Given the description of an element on the screen output the (x, y) to click on. 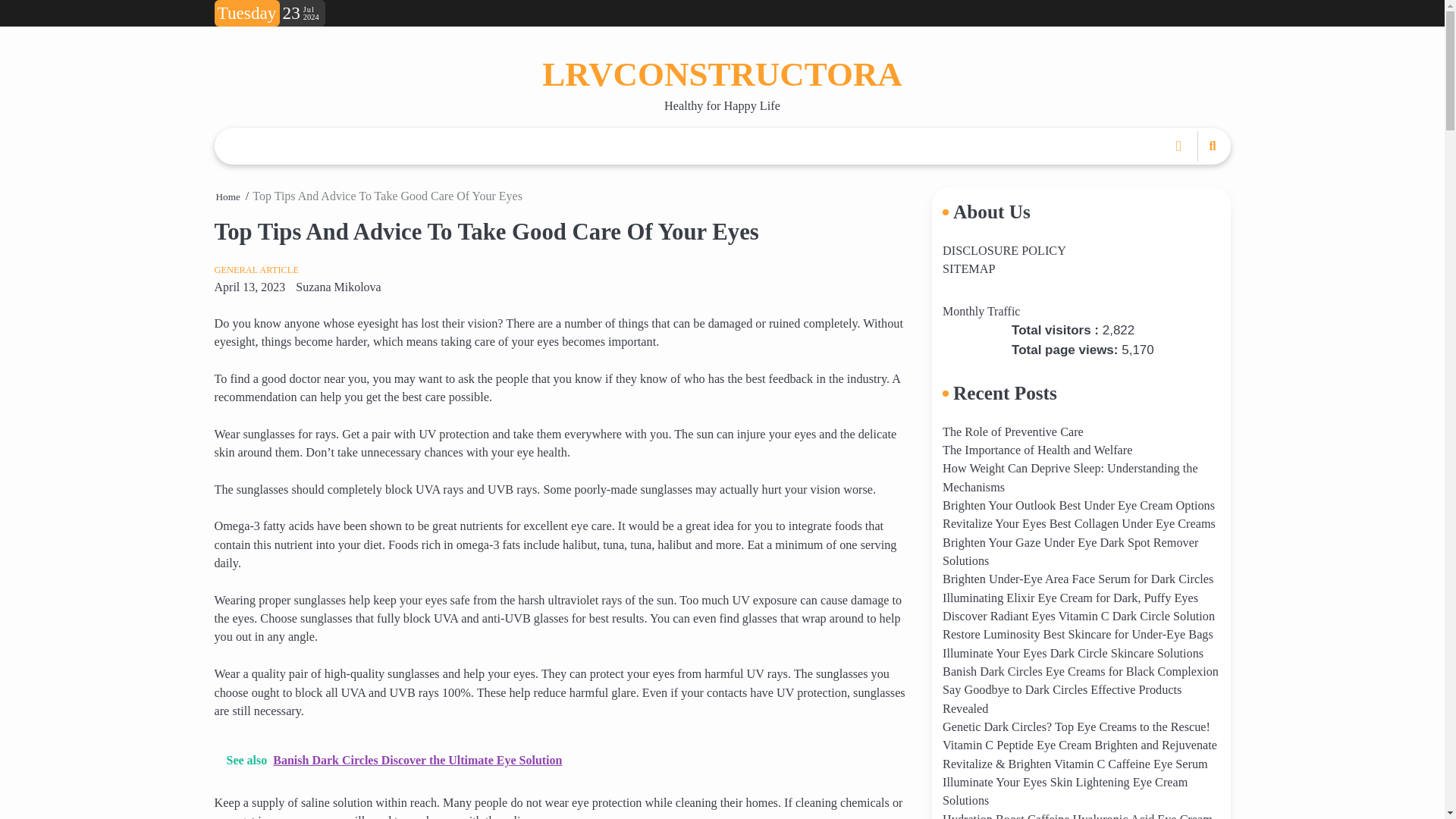
Revitalize Your Eyes Best Collagen Under Eye Creams (1078, 523)
Genetic Dark Circles? Top Eye Creams to the Rescue! (1075, 726)
Brighten Your Gaze Under Eye Dark Spot Remover Solutions (1070, 552)
How Weight Can Deprive Sleep: Understanding the Mechanisms (1070, 477)
April 13, 2023 (249, 286)
Brighten Your Outlook Best Under Eye Cream Options (1078, 505)
GENERAL ARTICLE (256, 269)
Home (227, 196)
DISCLOSURE POLICY (1003, 250)
Search (1192, 172)
Illuminating Elixir Eye Cream for Dark, Puffy Eyes (1070, 598)
The Importance of Health and Welfare (1037, 450)
Illuminate Your Eyes Dark Circle Skincare Solutions (1073, 653)
Discover Radiant Eyes Vitamin C Dark Circle Solution (1078, 616)
Say Goodbye to Dark Circles Effective Products Revealed (1061, 698)
